Given the description of an element on the screen output the (x, y) to click on. 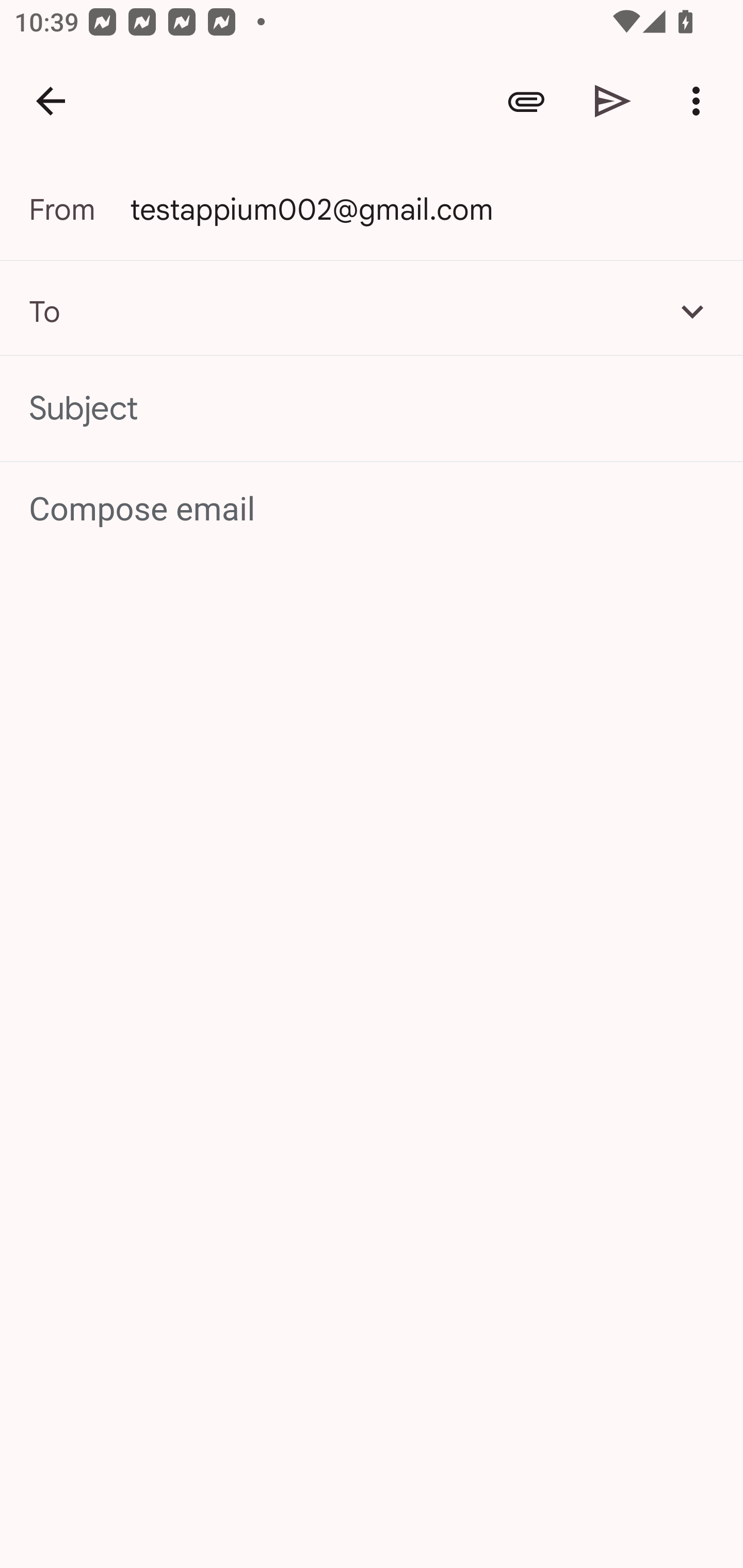
Navigate up (50, 101)
Attach file (525, 101)
Send (612, 101)
More options (699, 101)
From (79, 209)
Add Cc/Bcc (692, 311)
Subject (371, 407)
